Given the description of an element on the screen output the (x, y) to click on. 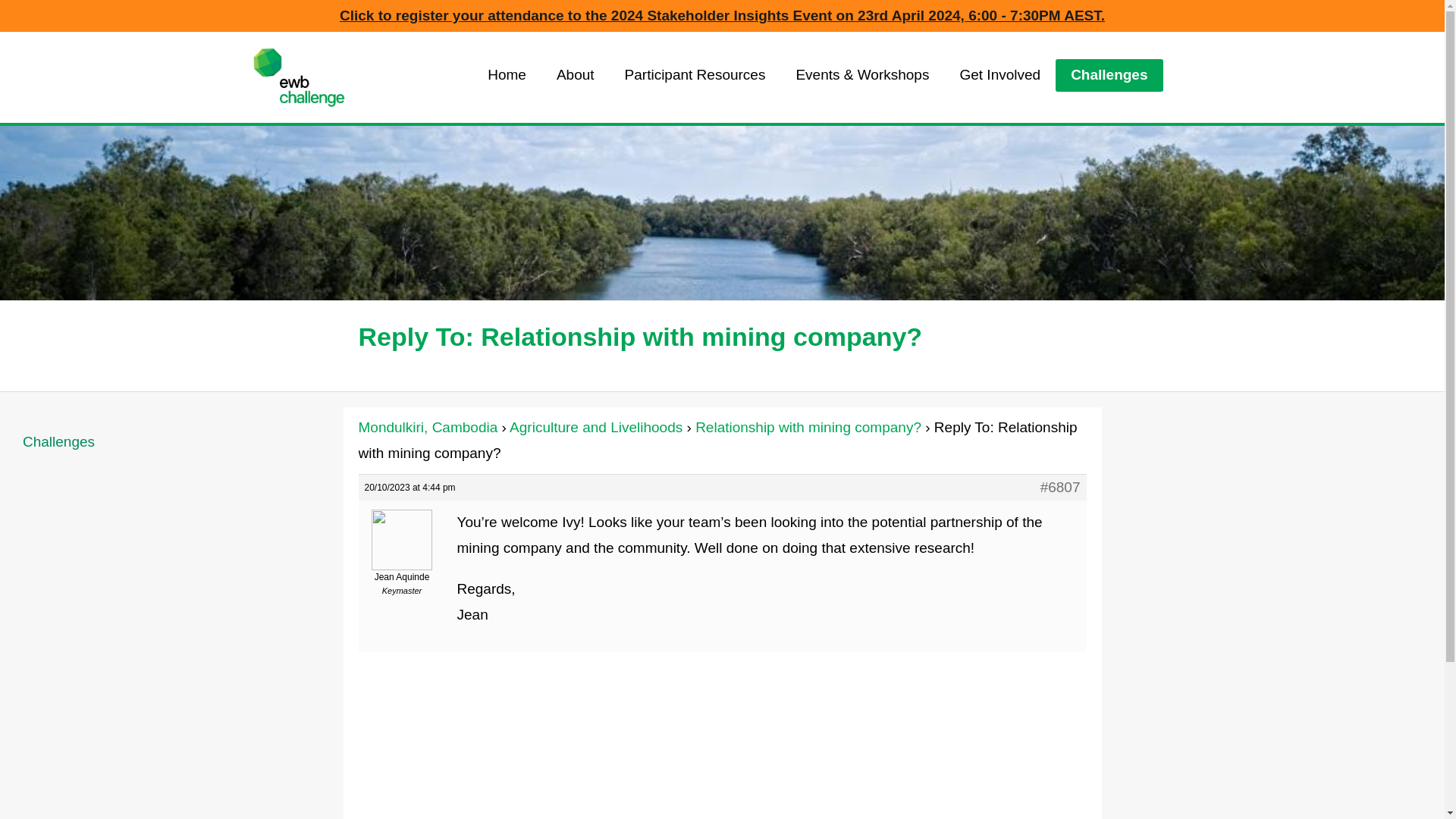
About (575, 74)
Get Involved (999, 74)
Home (506, 74)
Participant Resources (695, 74)
Challenges (1108, 74)
Challenges (171, 442)
